Given the description of an element on the screen output the (x, y) to click on. 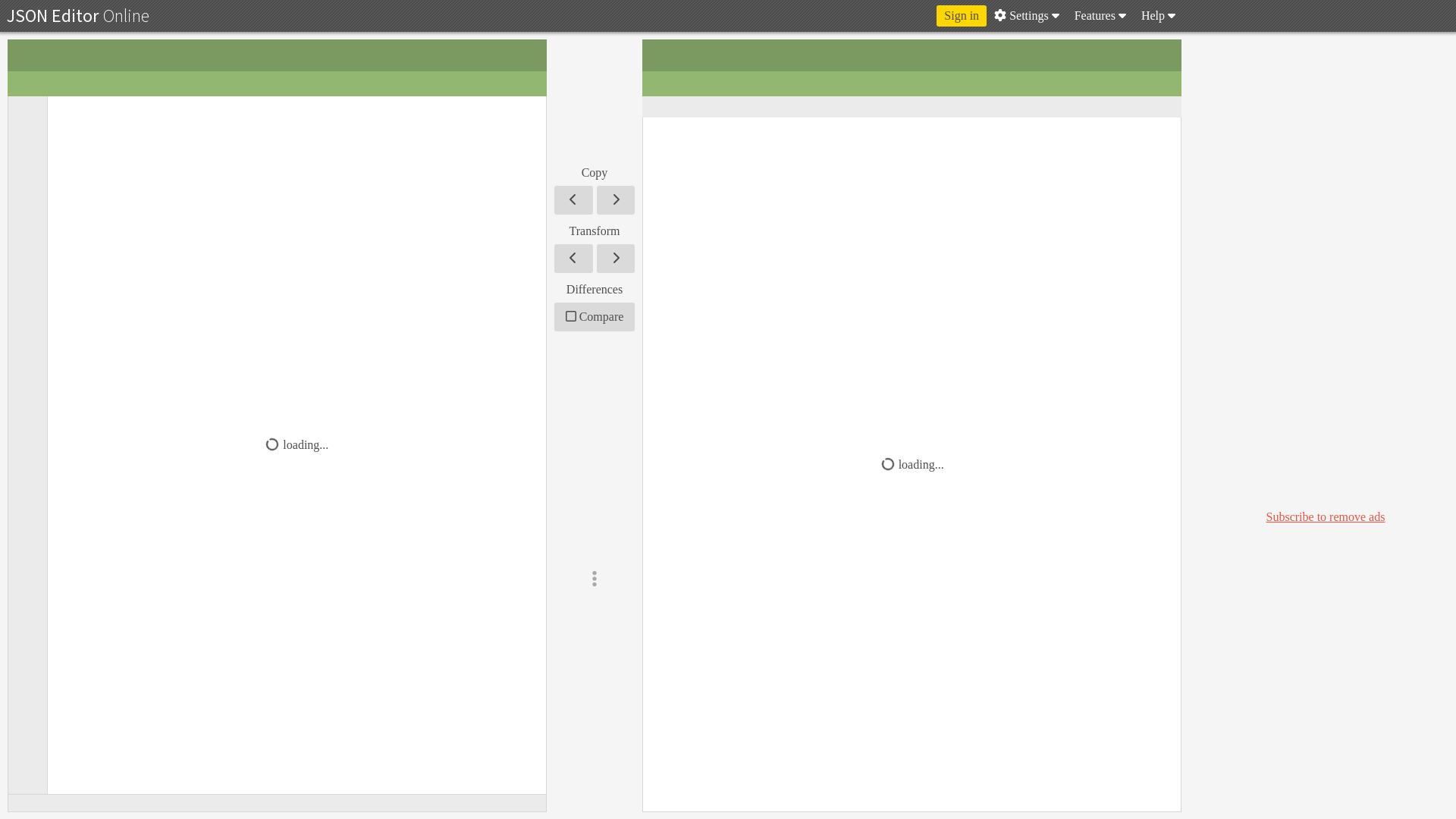
Features (1100, 15)
Subscribe to remove ads (1326, 516)
Help (1158, 15)
Settings (1027, 15)
Compare (594, 316)
Copy the contents of the left panel to the right panel (614, 199)
Sign in (961, 15)
Copy the contents of the right panel to the left panel (573, 199)
